Given the description of an element on the screen output the (x, y) to click on. 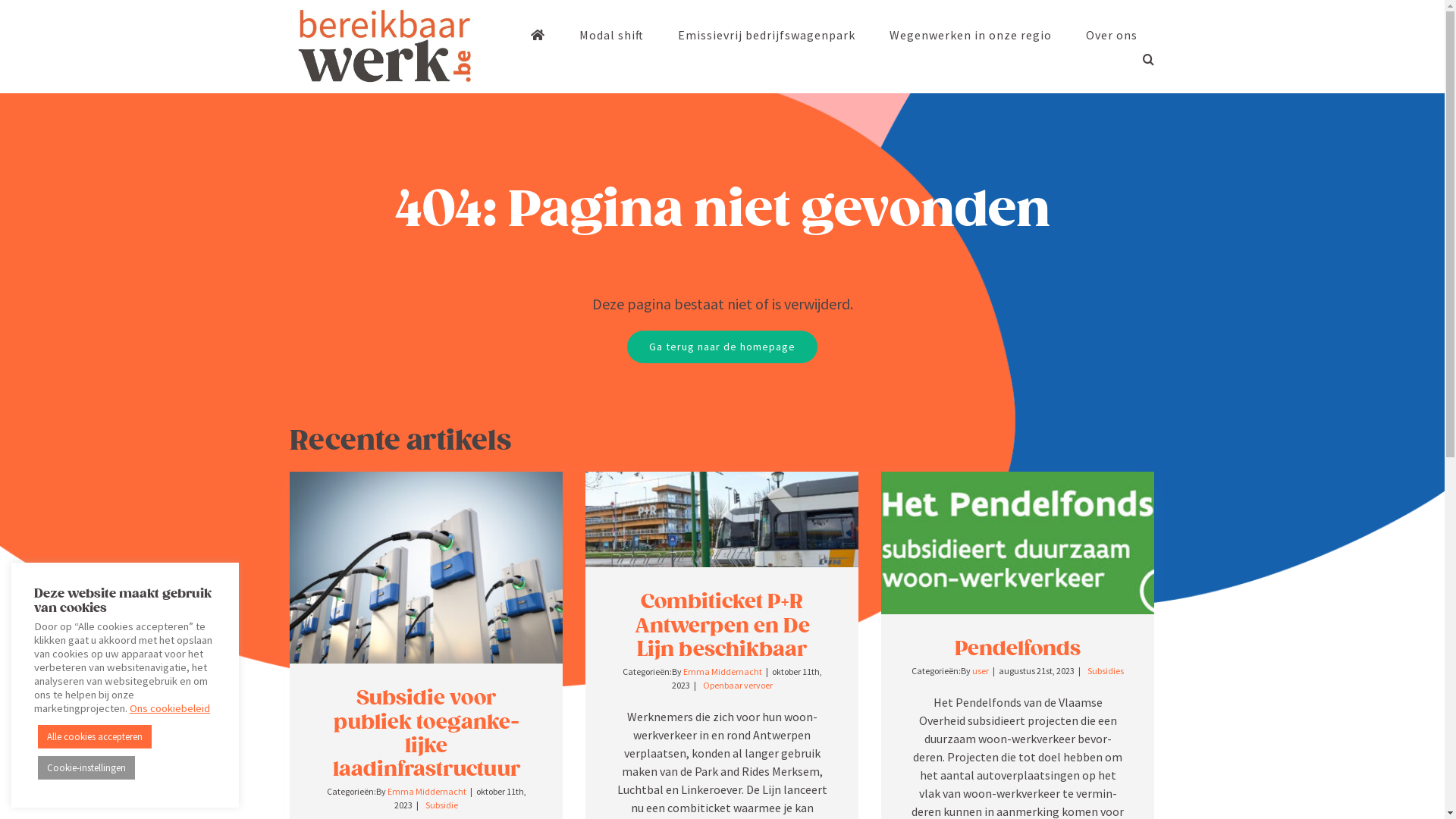
Over ons Element type: text (1111, 34)
Subsidie Element type: text (441, 804)
Pendelfonds Element type: text (1017, 648)
user Element type: text (980, 670)
Subsidies Element type: text (1105, 670)
Ga terug naar de homepage Element type: text (722, 346)
Ons cookiebeleid Element type: text (169, 708)
Alle cookies accepteren Element type: text (94, 736)
Cookie-instellingen Element type: text (85, 767)
Emma Middernacht Element type: text (722, 671)
Search Element type: hover (1148, 59)
Emma Middernacht Element type: text (426, 791)
Modal shift Element type: text (611, 34)
Openbaar vervoer Element type: text (737, 684)
